Given the description of an element on the screen output the (x, y) to click on. 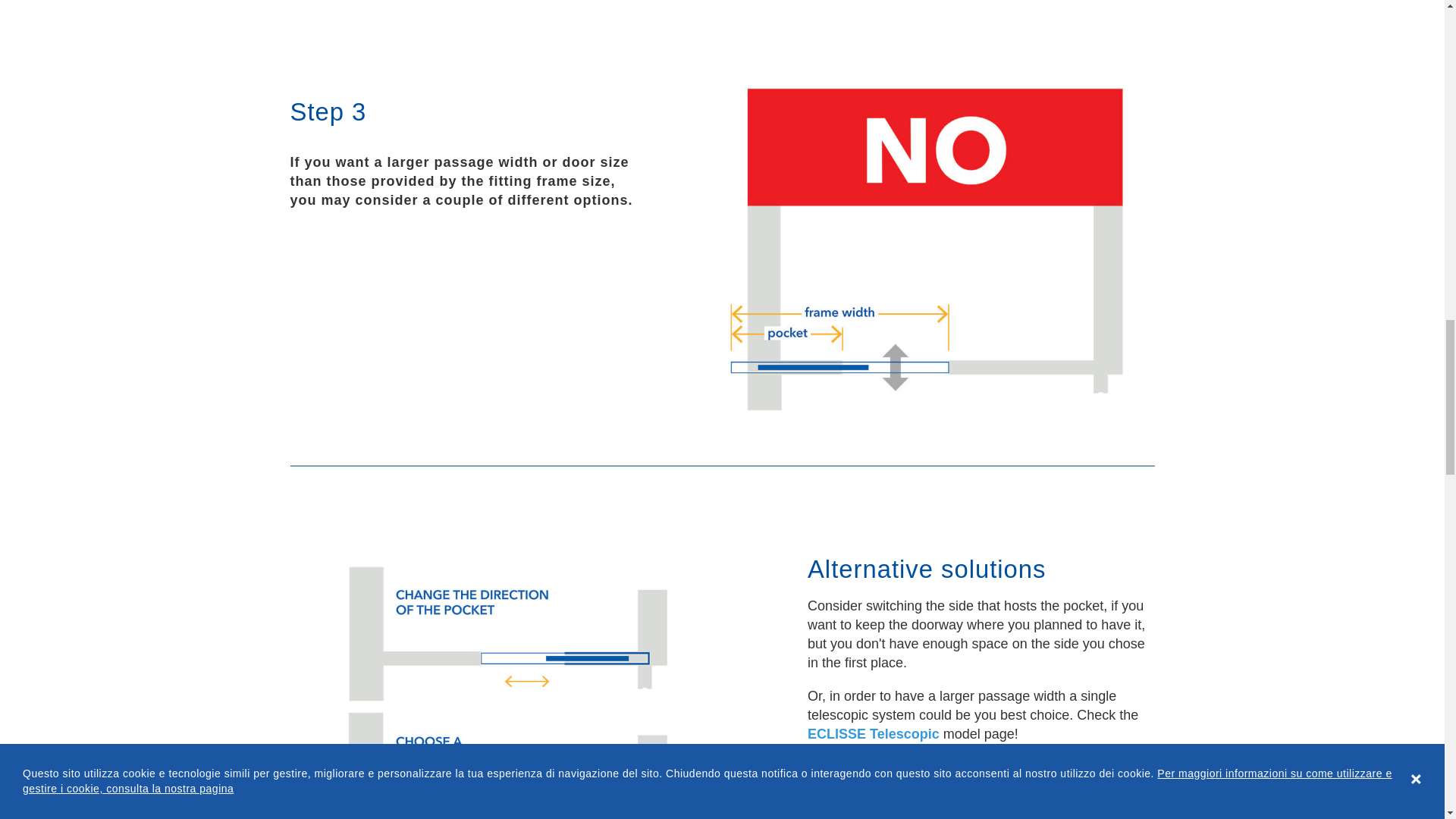
ECLISSE Telescopic (873, 734)
